Given the description of an element on the screen output the (x, y) to click on. 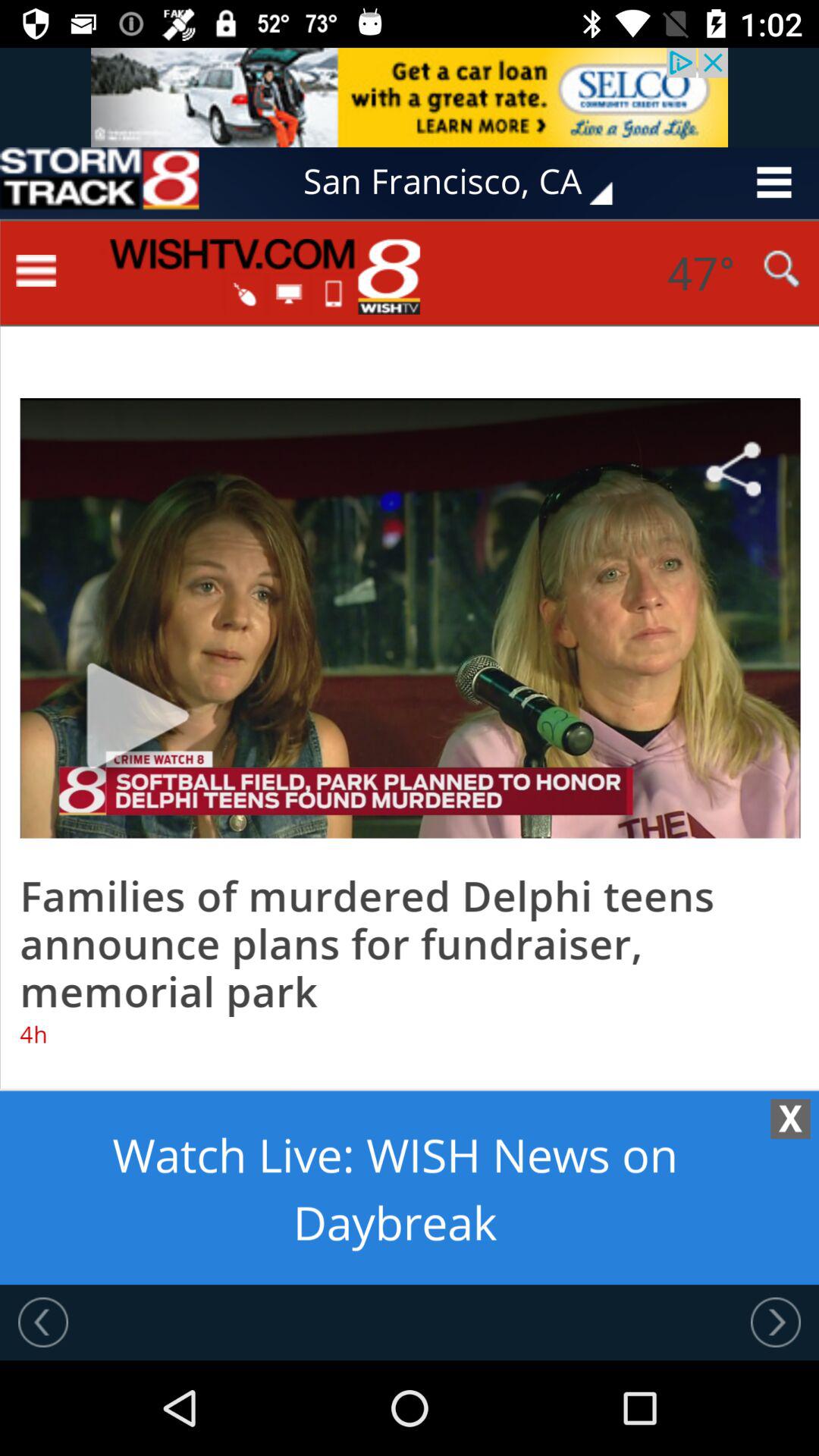
know about the advertisement (99, 182)
